Given the description of an element on the screen output the (x, y) to click on. 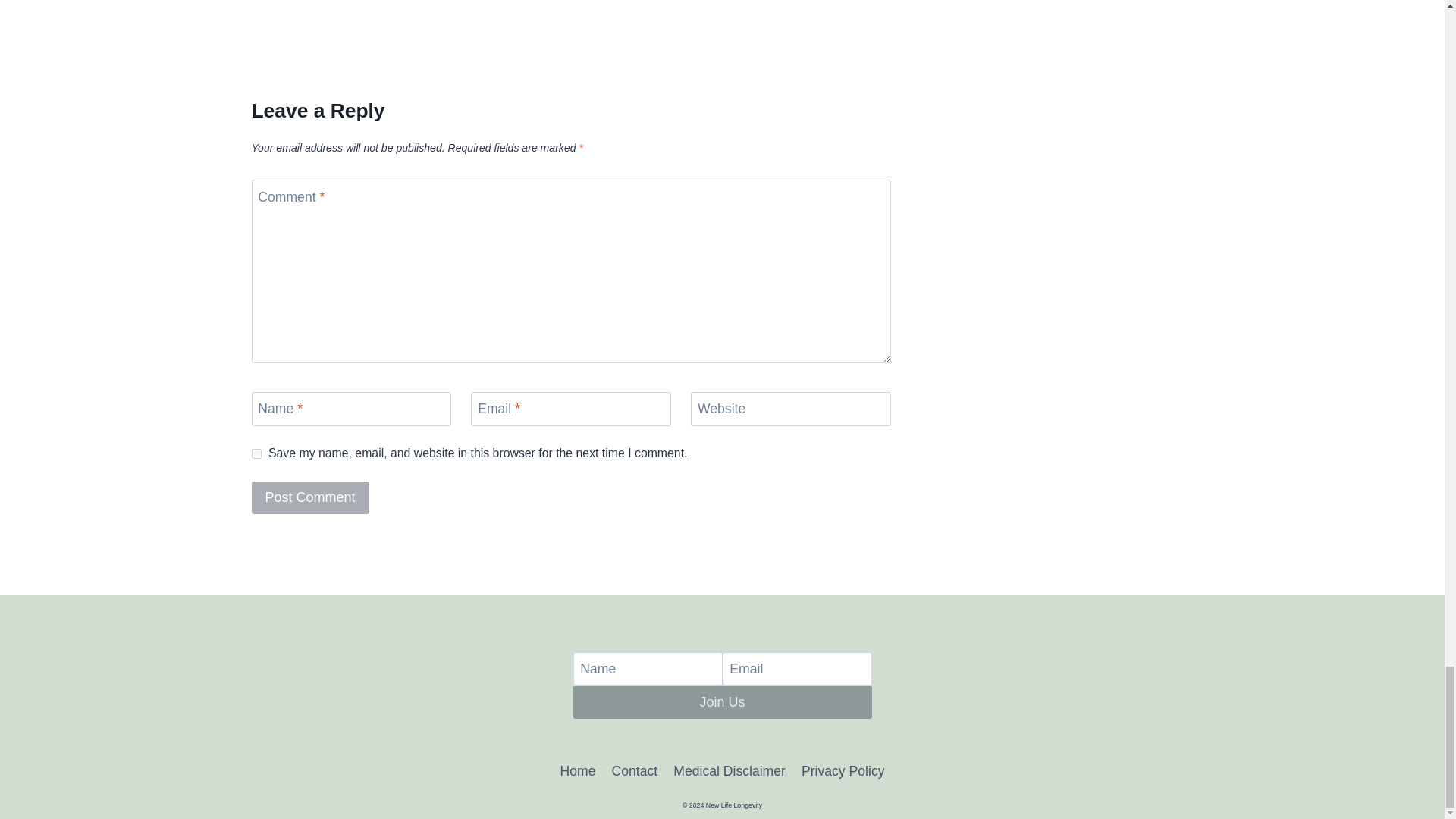
Post Comment (310, 497)
Join Us (722, 701)
yes (256, 453)
